Given the description of an element on the screen output the (x, y) to click on. 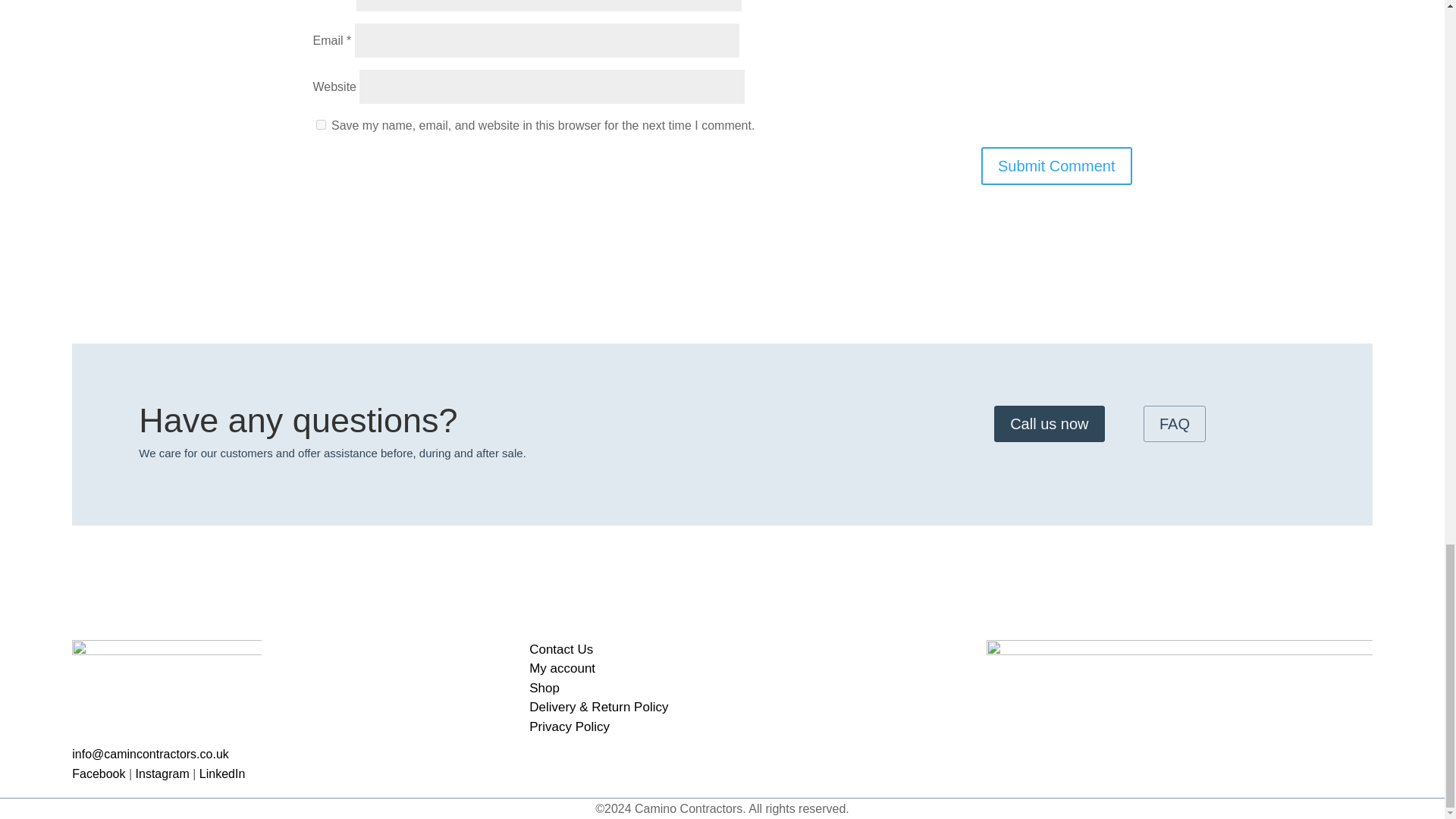
stripe-badge-transparent (1180, 702)
Submit Comment (1056, 166)
yes (319, 124)
Submit Comment (1056, 166)
